Given the description of an element on the screen output the (x, y) to click on. 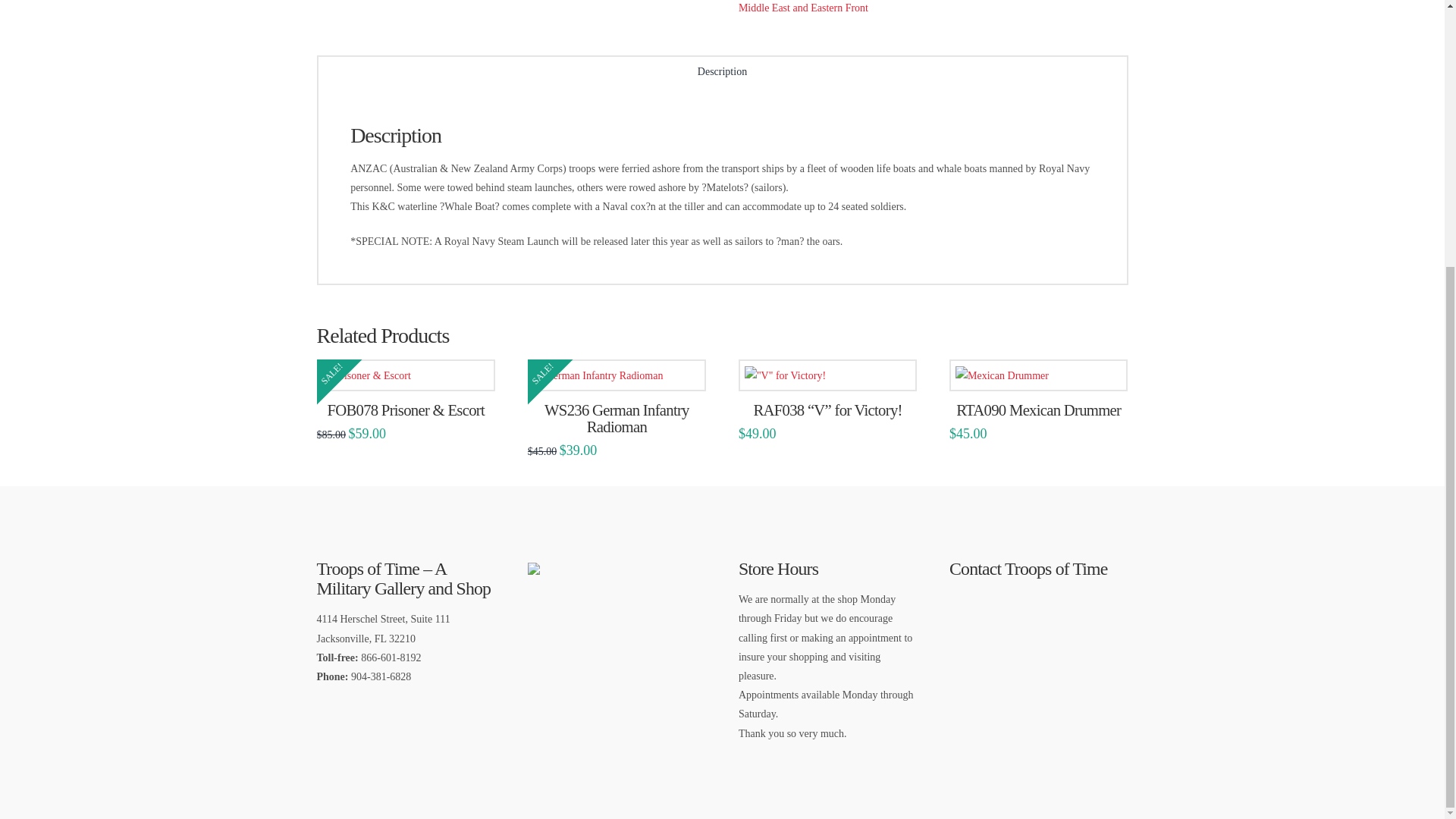
Description (722, 73)
WWI Gallipoli, Middle East and Eastern Front (930, 6)
WS236 German Infantry Radioman (616, 418)
RTA090 Mexican Drummer (1038, 410)
